Given the description of an element on the screen output the (x, y) to click on. 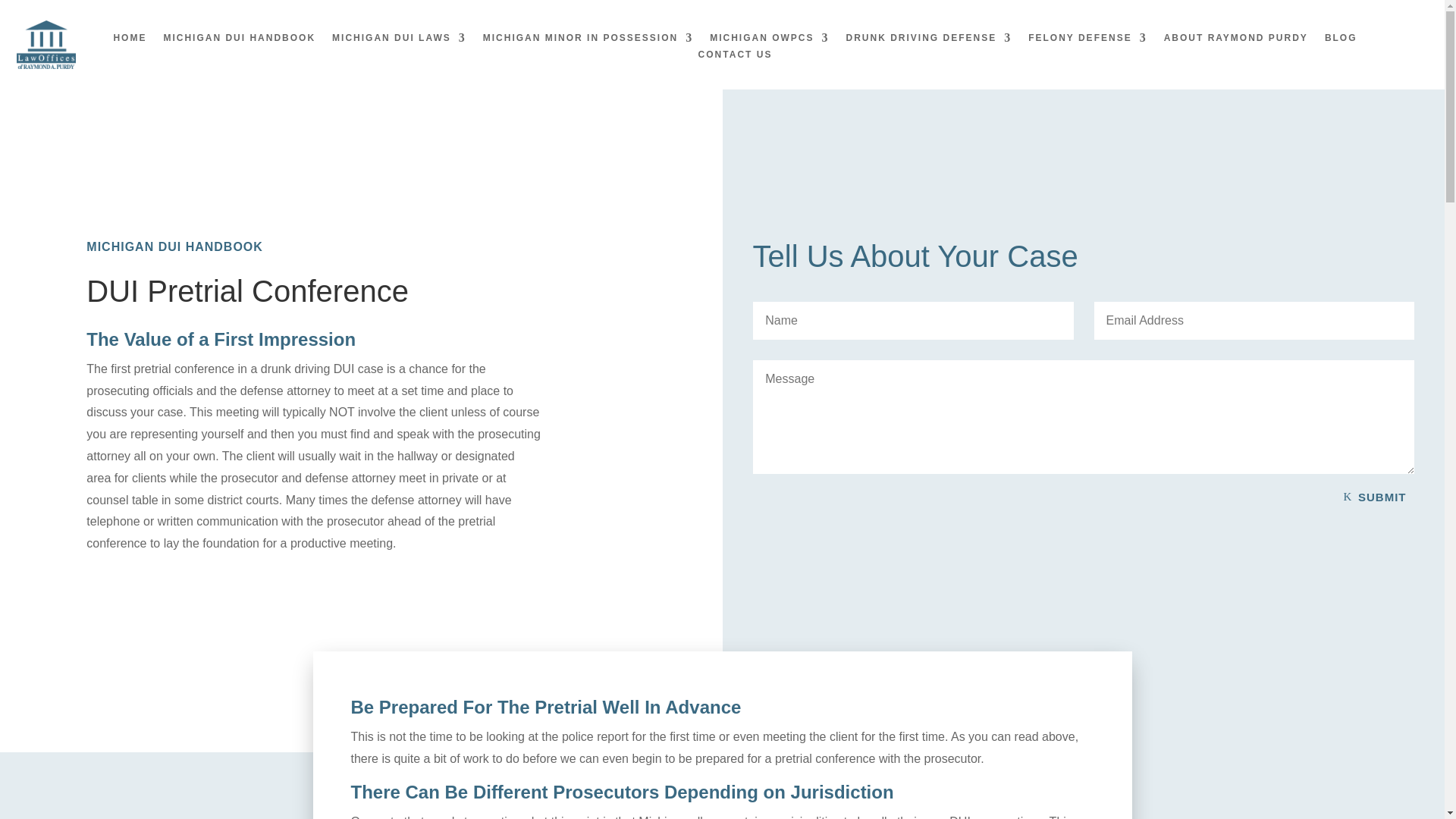
DRUNK DRIVING DEFENSE (928, 40)
MICHIGAN OWPCS (769, 40)
HOME (130, 40)
MICHIGAN DUI HANDBOOK (239, 40)
MICHIGAN MINOR IN POSSESSION (588, 40)
purdy-logo (45, 44)
MICHIGAN DUI LAWS (398, 40)
